Given the description of an element on the screen output the (x, y) to click on. 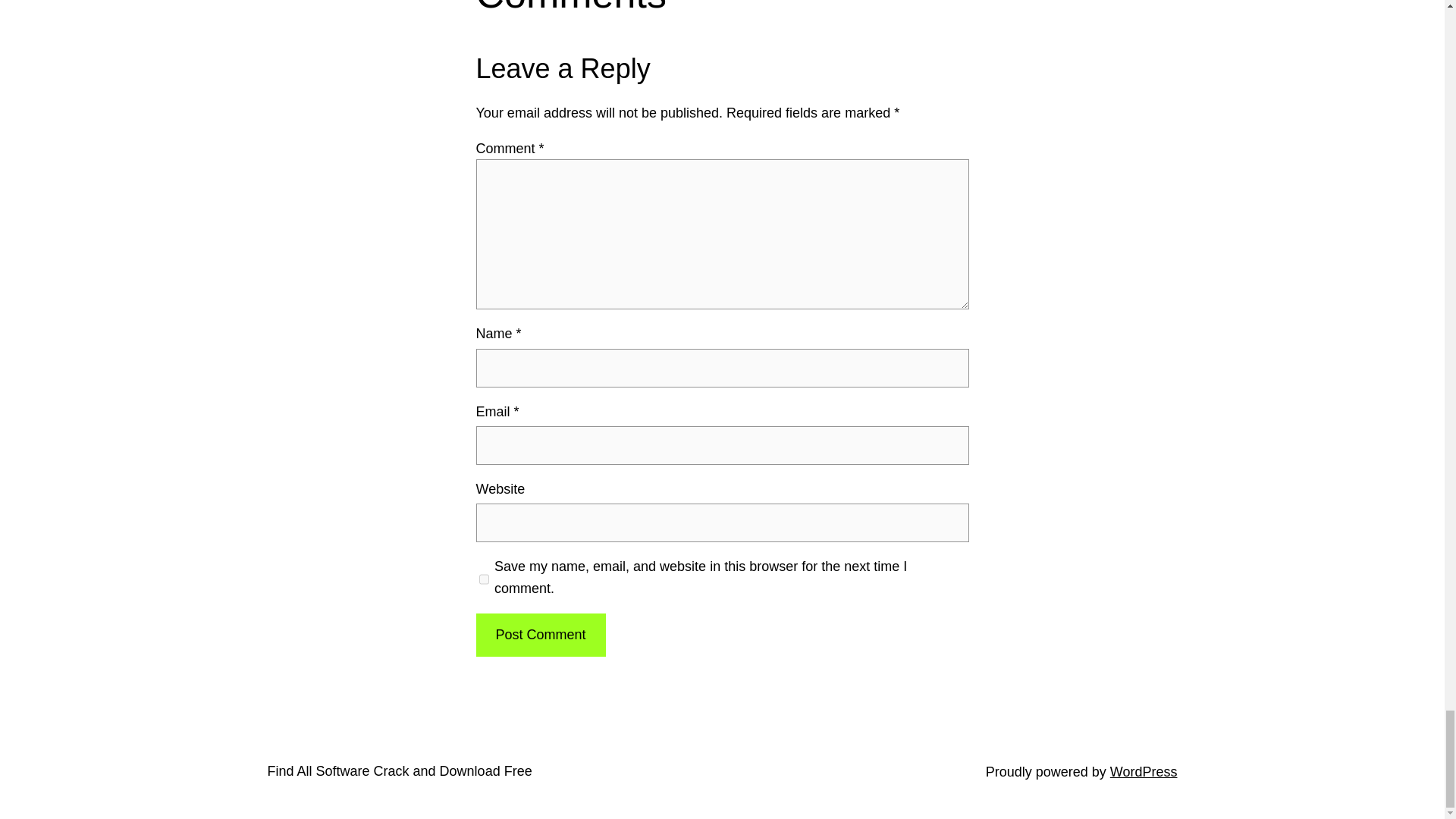
yes (484, 579)
Post Comment (540, 634)
